Given the description of an element on the screen output the (x, y) to click on. 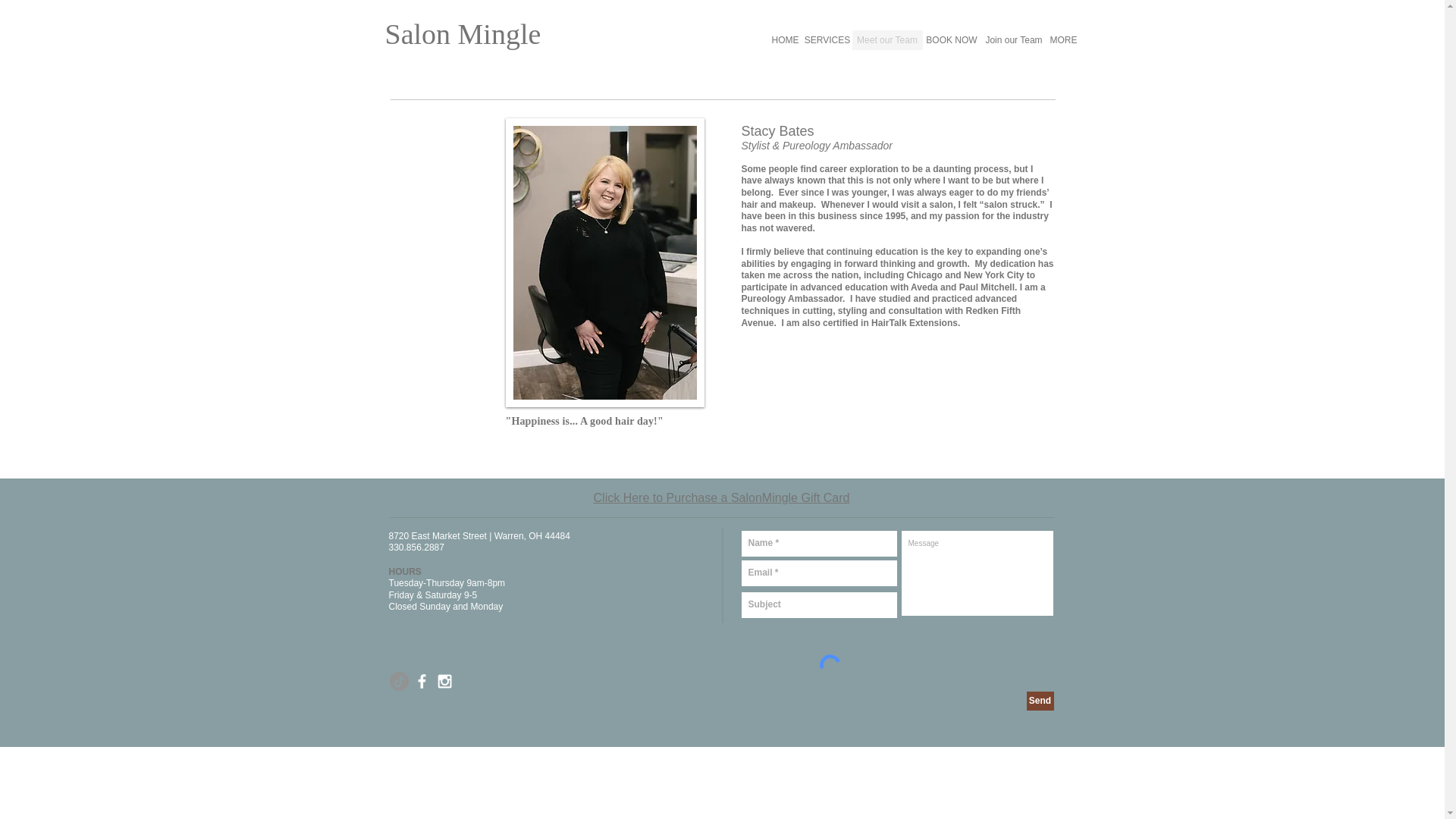
Meet our Team (887, 39)
Salon Mingle (463, 33)
SERVICES (826, 39)
Join our Team (1013, 39)
HOME (784, 39)
Click Here to Purchase a SalonMingle Gift Card (722, 497)
BOOK NOW (950, 39)
Send (1040, 700)
